Given the description of an element on the screen output the (x, y) to click on. 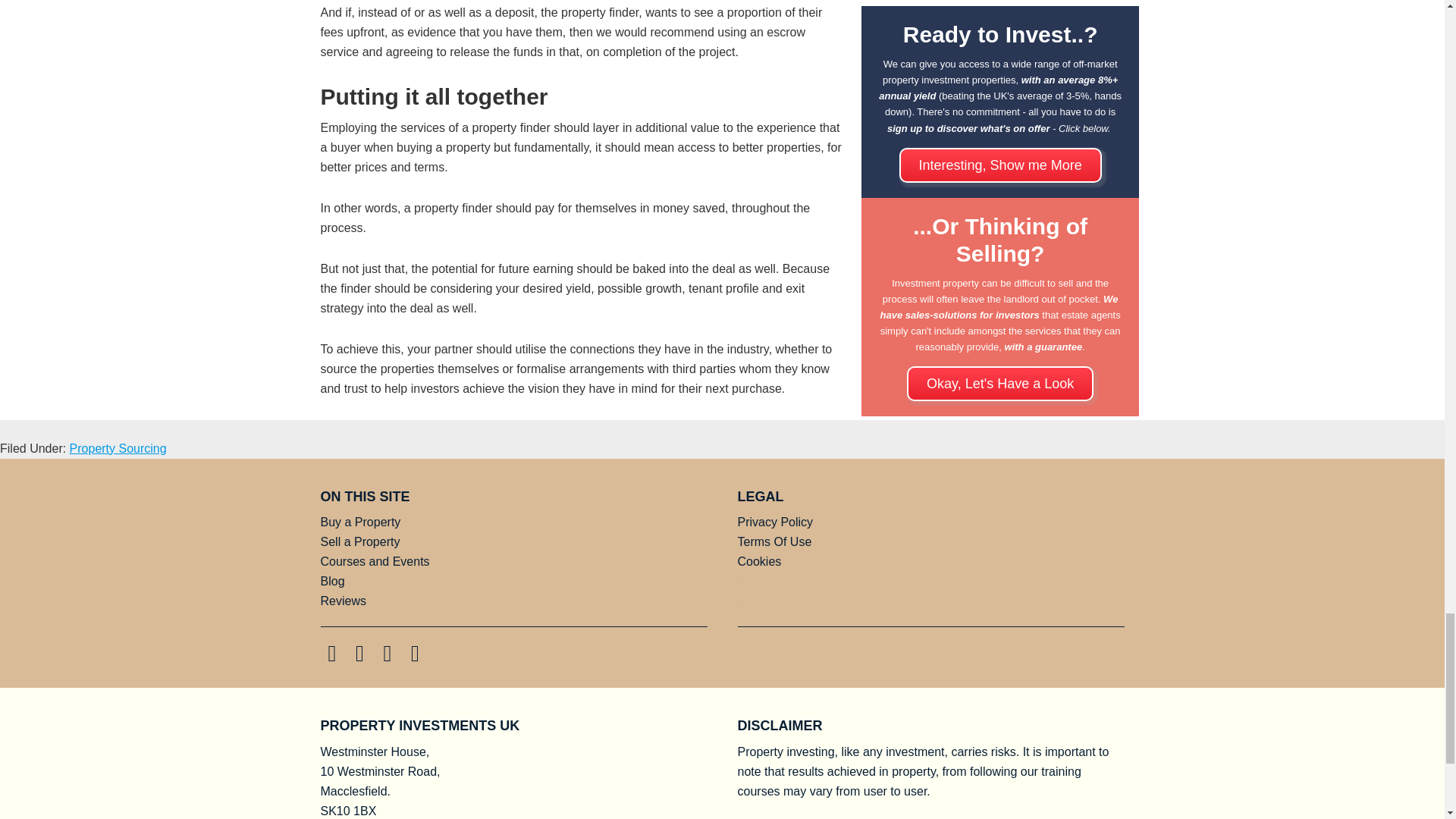
Reviews (342, 600)
Property Sourcing (118, 448)
Cookies (758, 561)
Courses and Events (374, 561)
Terms Of Use (773, 541)
Blog (331, 581)
Sell a Property (359, 541)
Privacy Policy (774, 521)
Buy a Property (360, 521)
